Given the description of an element on the screen output the (x, y) to click on. 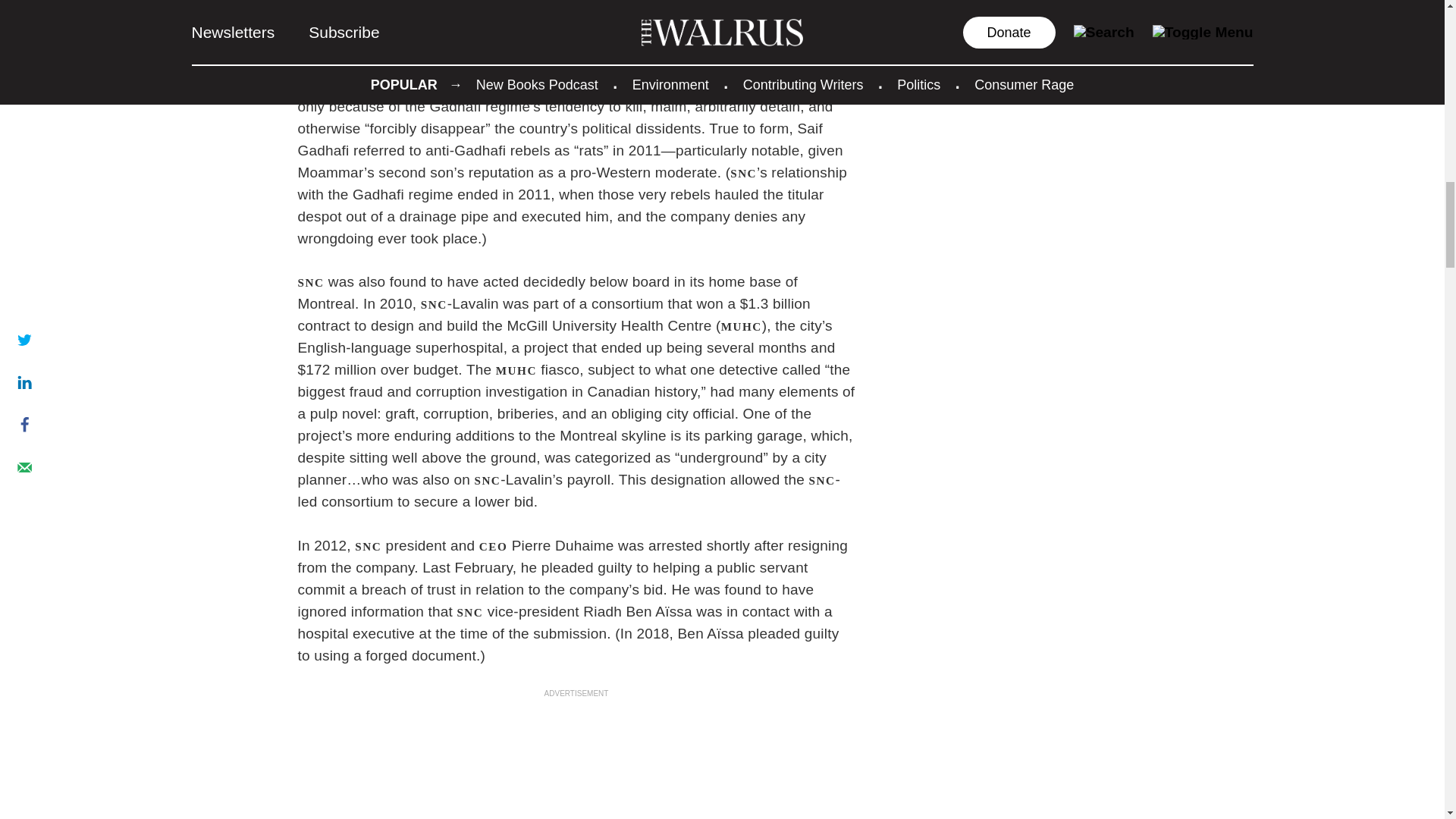
3rd party ad content (576, 759)
